Given the description of an element on the screen output the (x, y) to click on. 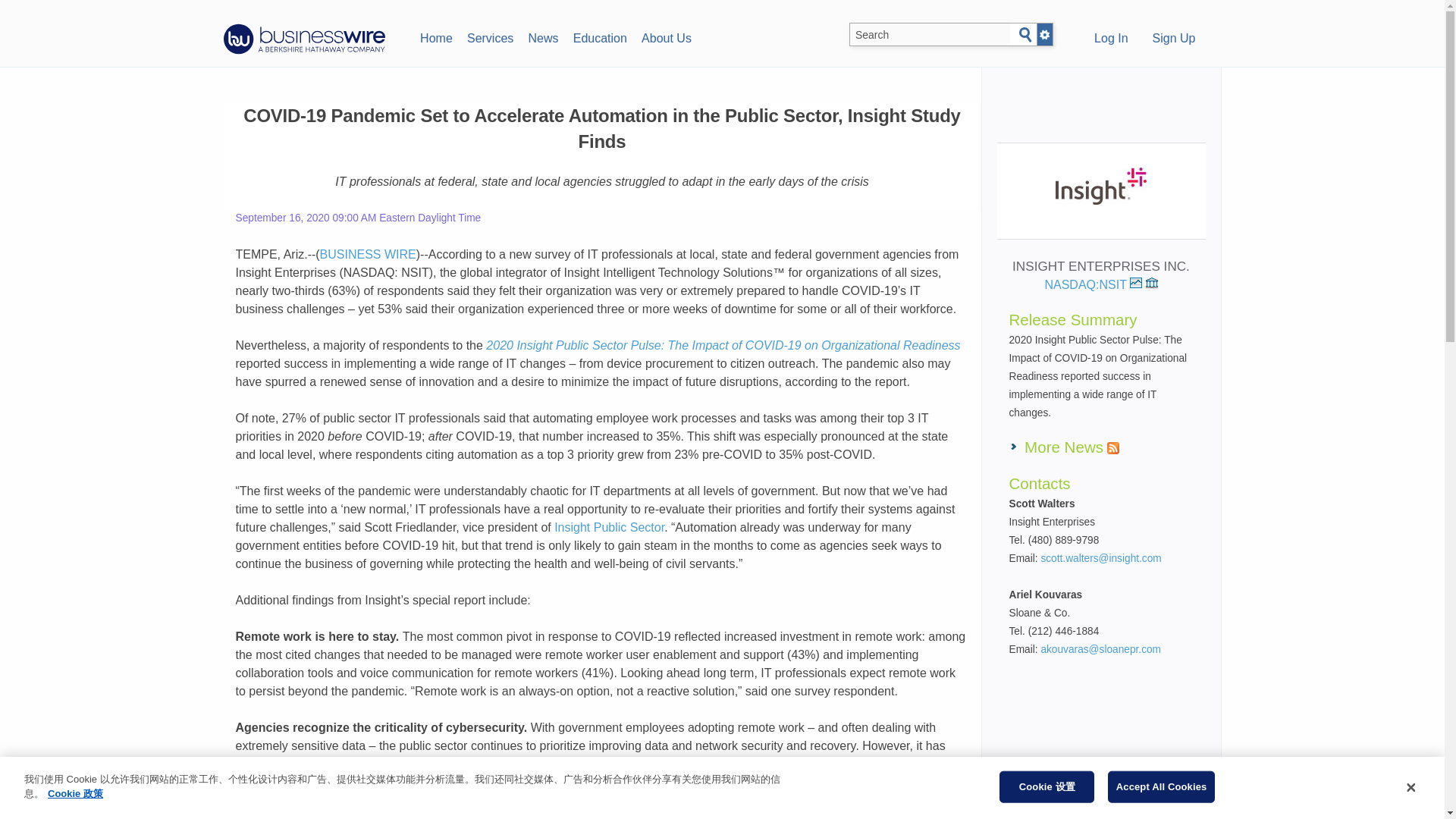
Education (599, 36)
RSS feed for Insight Enterprises, Inc. (1112, 448)
Home (436, 36)
Insight Public Sector (608, 526)
News (543, 36)
Services (490, 36)
View stock quote and chart (1135, 282)
Search (1025, 34)
NASDAQ:NSIT (1092, 284)
